Given the description of an element on the screen output the (x, y) to click on. 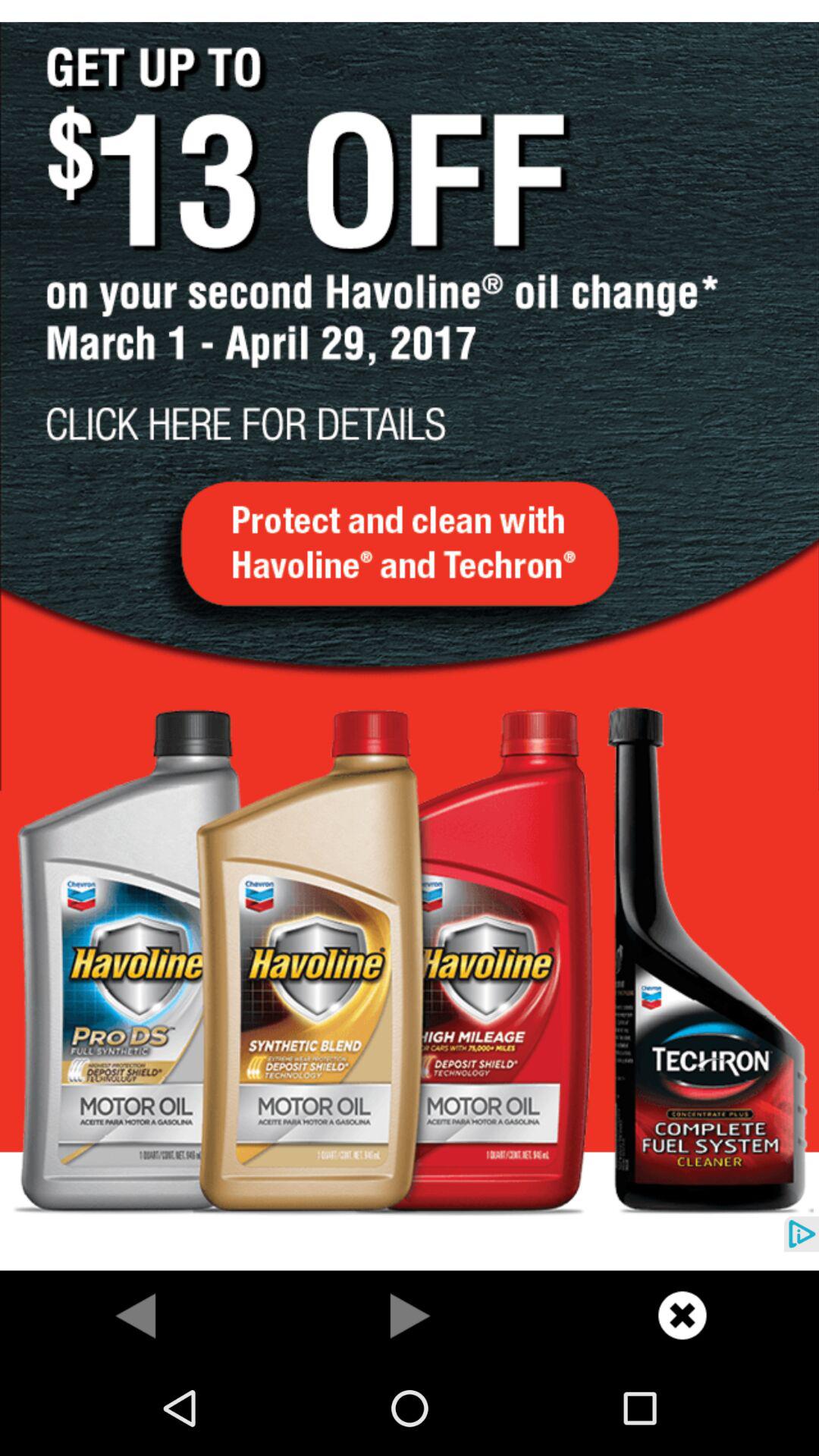
share the article (682, 1315)
